Given the description of an element on the screen output the (x, y) to click on. 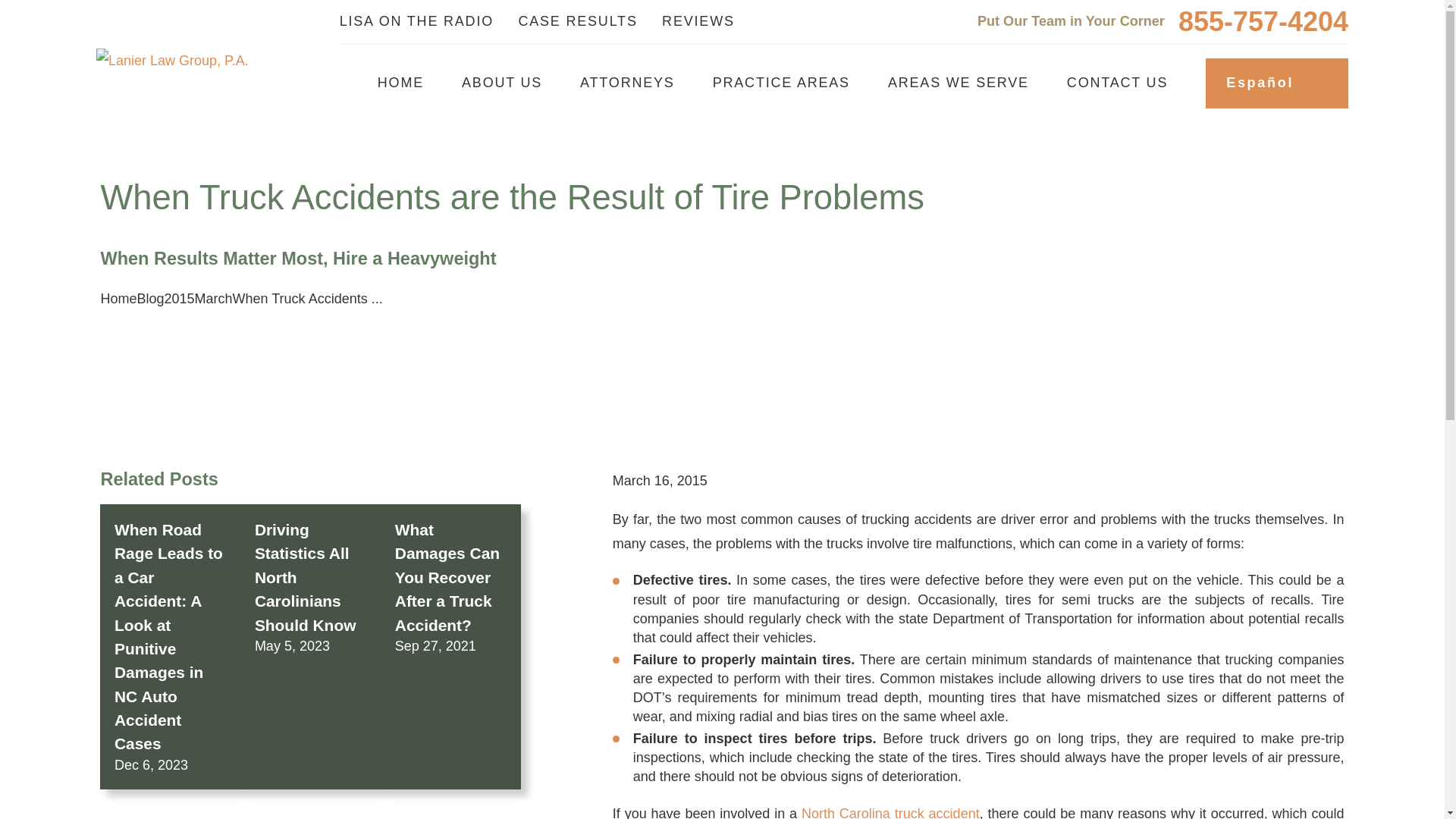
LISA ON THE RADIO (416, 20)
Go Home (118, 298)
ABOUT US (501, 83)
HOME (400, 83)
CASE RESULTS (577, 20)
Lanier Law Group, P.A. (172, 60)
855-757-4204 (1262, 22)
PRACTICE AREAS (781, 83)
ATTORNEYS (627, 83)
REVIEWS (698, 20)
Home (172, 60)
